Given the description of an element on the screen output the (x, y) to click on. 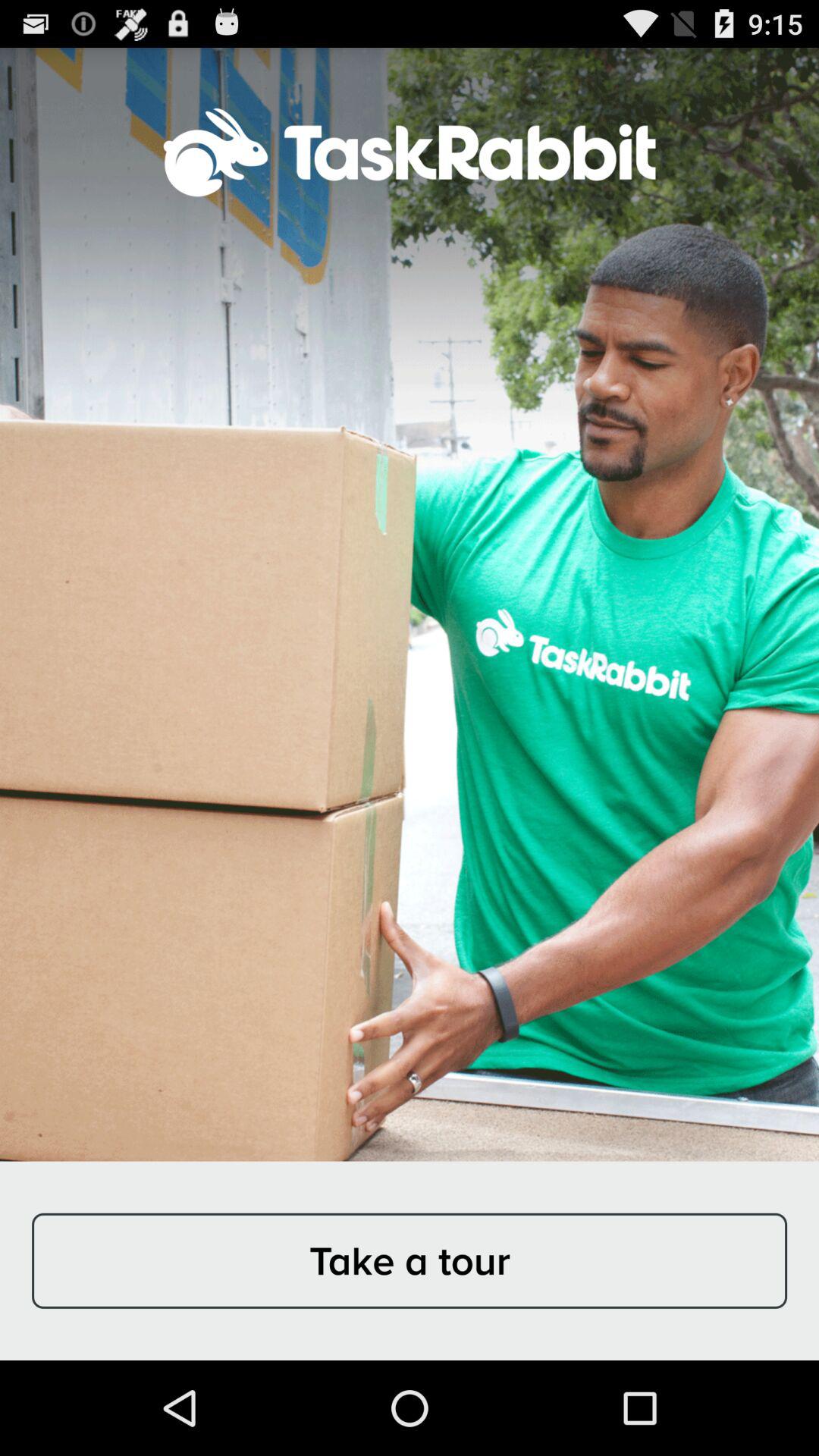
press take a tour (409, 1260)
